Given the description of an element on the screen output the (x, y) to click on. 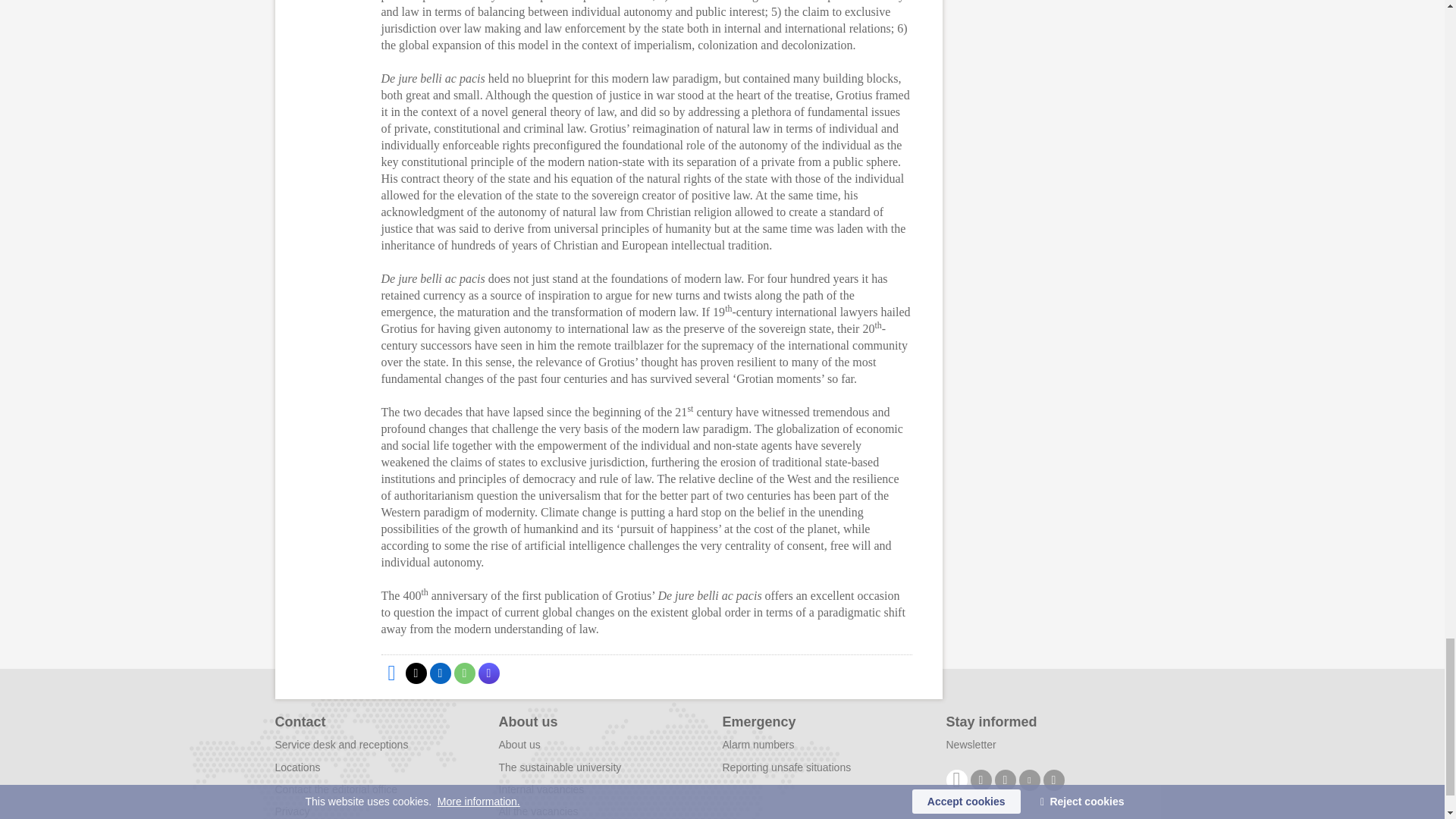
Share by WhatsApp (463, 672)
Share on Facebook (390, 672)
Share by Mastodon (488, 672)
Share on LinkedIn (439, 672)
Share on X (415, 672)
